Given the description of an element on the screen output the (x, y) to click on. 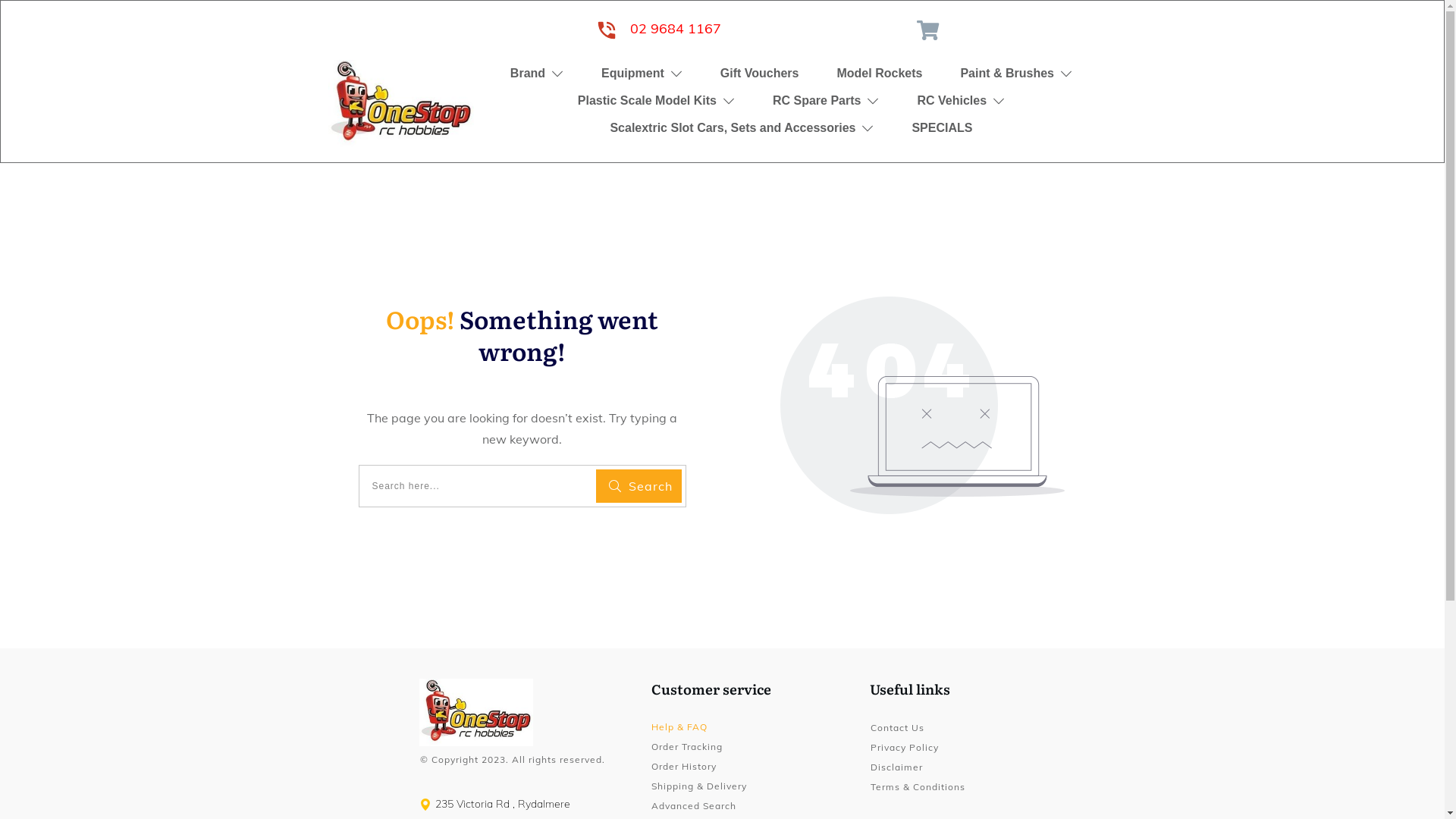
404 Element type: hover (922, 405)
Equipment Element type: text (641, 72)
Paint & Brushes Element type: text (1016, 72)
Contact Us Element type: text (897, 727)
Terms & Conditions Element type: text (917, 786)
RC Vehicles Element type: text (960, 99)
Model Rockets Element type: text (879, 72)
Gift Vouchers Element type: text (759, 72)
Advanced Search Element type: text (693, 805)
Shipping & Delivery Element type: text (698, 785)
Help & FAQ Element type: text (679, 726)
Scalextric Slot Cars, Sets and Accessories Element type: text (741, 127)
Order Tracking Element type: text (686, 746)
RC Spare Parts Element type: text (825, 99)
Search Element type: text (638, 485)
Disclaimer Element type: text (896, 766)
02 9684 1167 Element type: text (675, 28)
Plastic Scale Model Kits Element type: text (655, 99)
Privacy Policy Element type: text (904, 747)
235 Victoria Rd , Rydalmere Element type: text (502, 803)
SPECIALS Element type: text (941, 127)
Brand Element type: text (536, 72)
Order History Element type: text (683, 765)
